Given the description of an element on the screen output the (x, y) to click on. 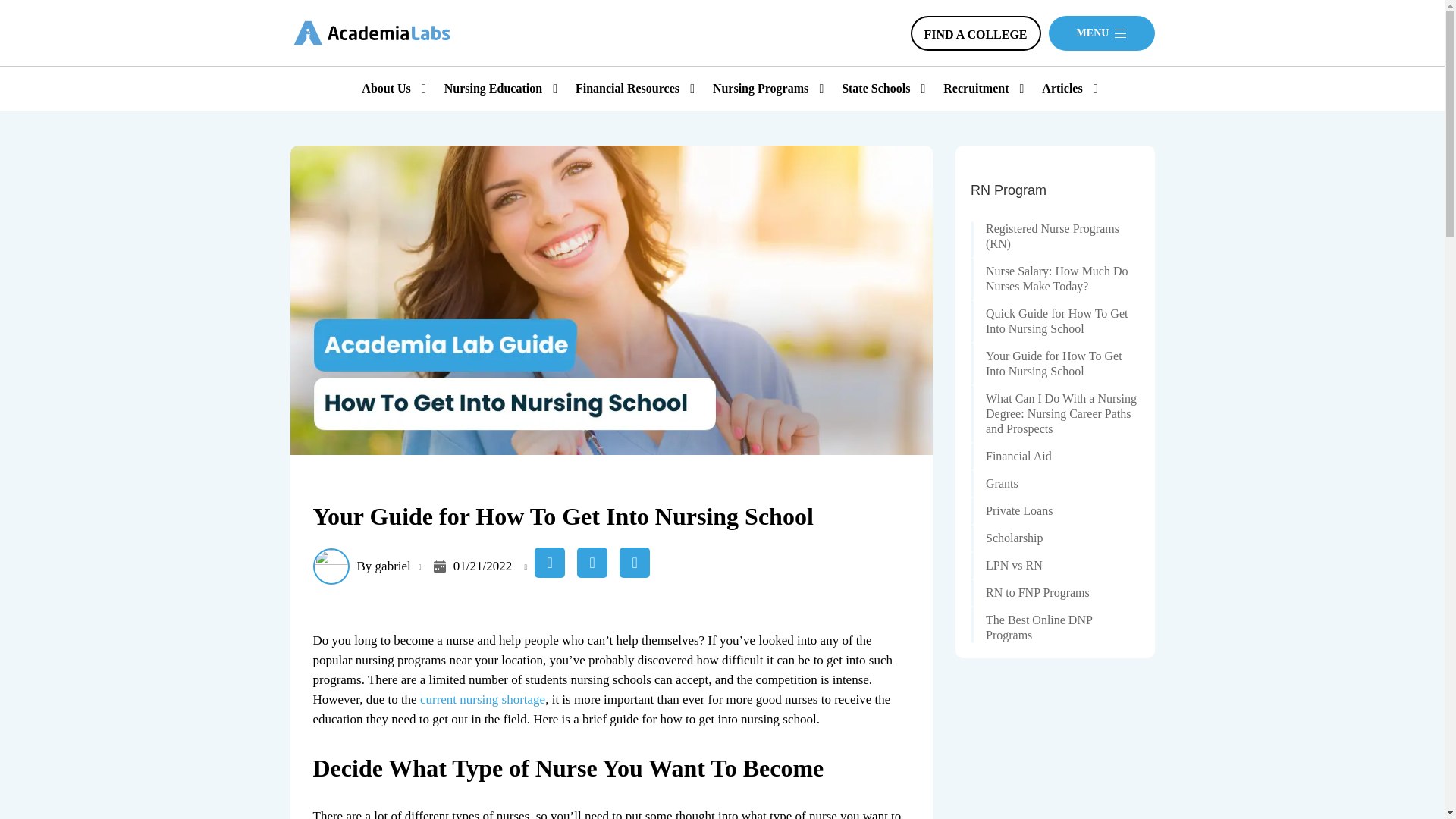
FIND A COLLEGE (975, 32)
